Given the description of an element on the screen output the (x, y) to click on. 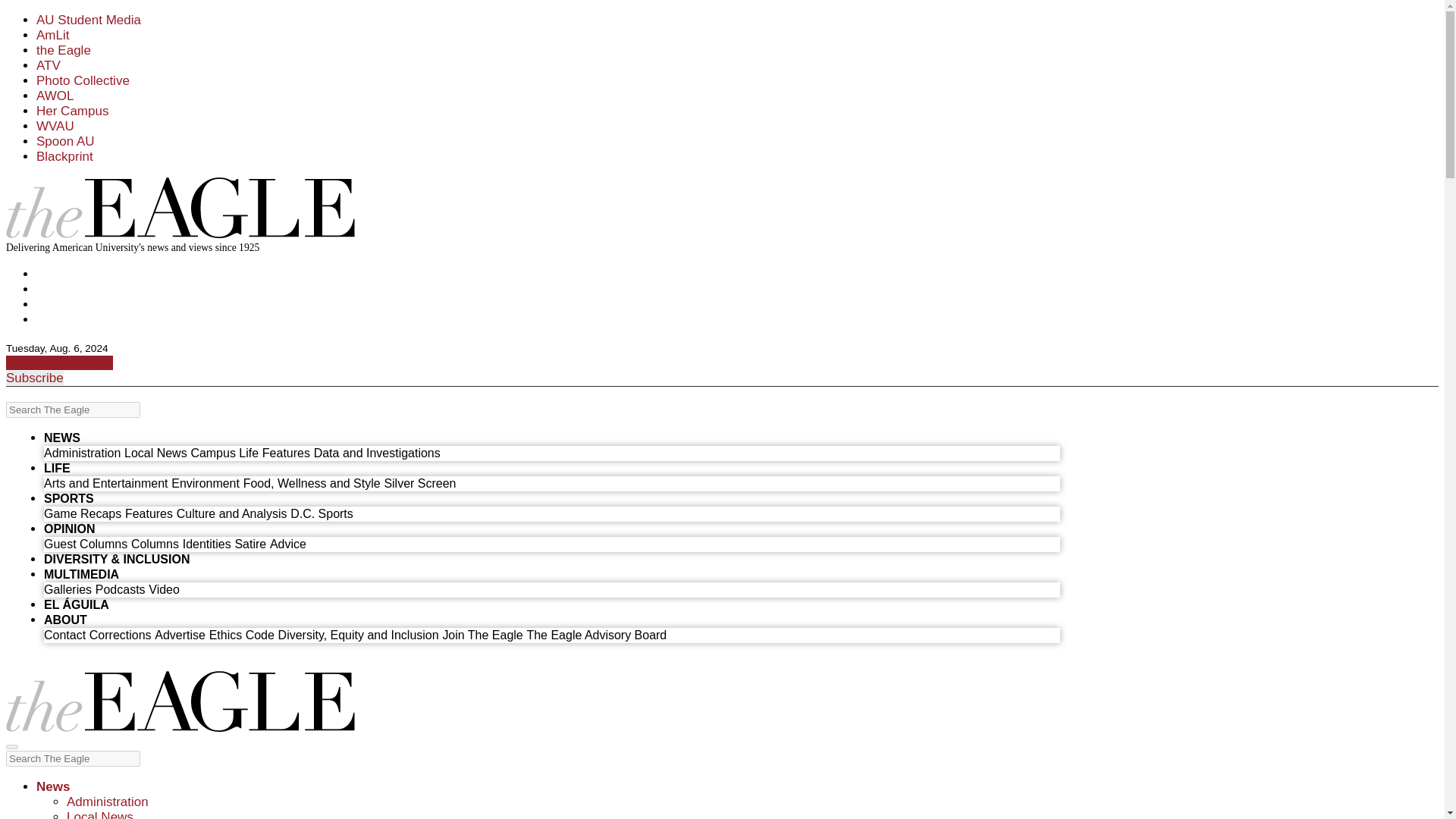
ATV (48, 65)
Local News (155, 452)
Features (149, 513)
Environment (205, 482)
Silver Screen (419, 482)
D.C. Sports (321, 513)
Spoon AU (65, 141)
Subscribe (34, 377)
the Eagle (63, 50)
Features (286, 452)
Her Campus (71, 110)
AmLit (52, 34)
Support The Eagle (59, 362)
Culture and Analysis (231, 513)
LIFE (56, 468)
